Given the description of an element on the screen output the (x, y) to click on. 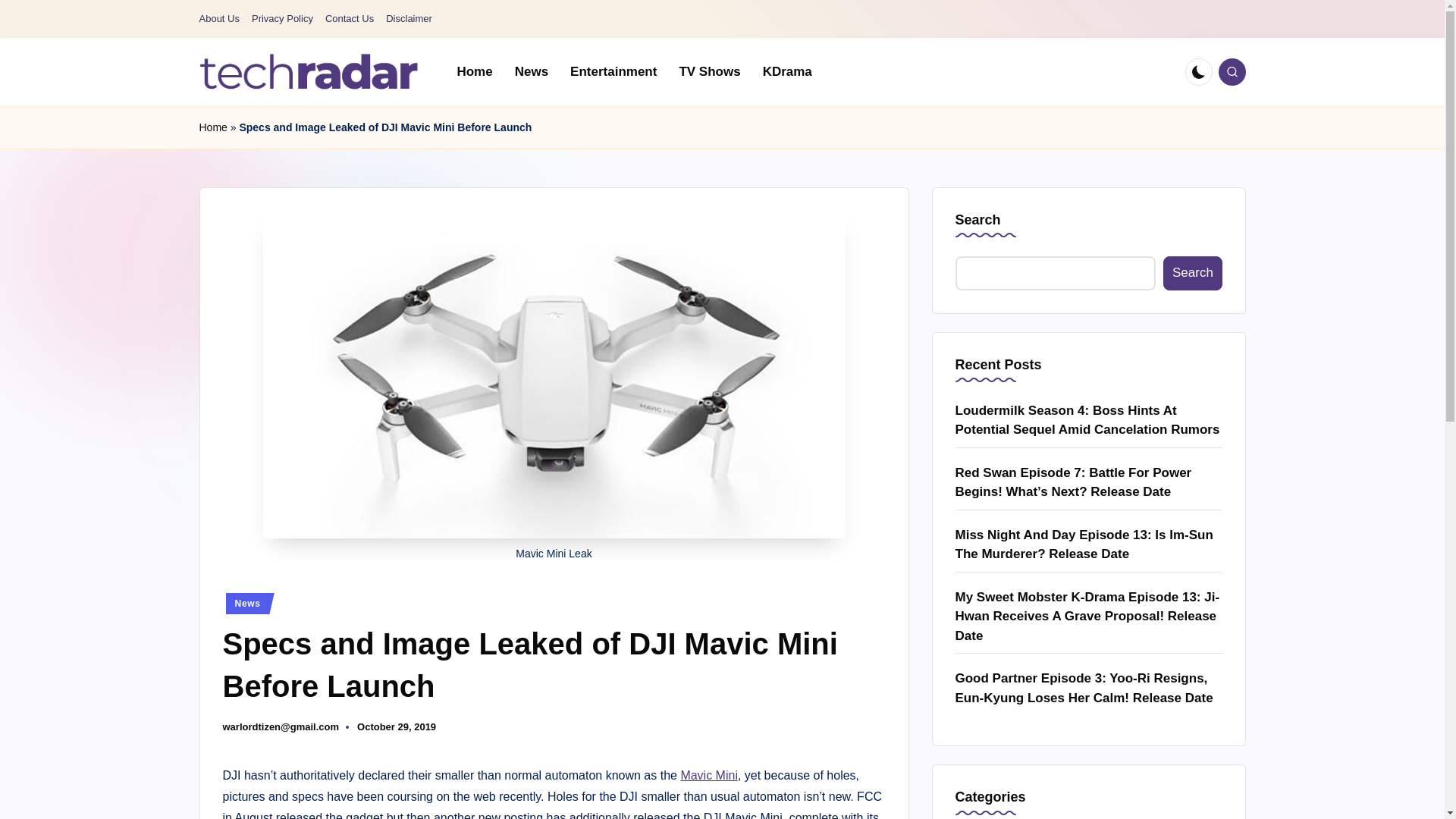
Disclaimer (408, 18)
Privacy Policy (282, 18)
News (250, 603)
Entertainment (612, 71)
Home (212, 127)
Mavic Mini (708, 775)
About Us (218, 18)
News (531, 71)
TV Shows (709, 71)
Contact Us (349, 18)
Search (1192, 273)
